Given the description of an element on the screen output the (x, y) to click on. 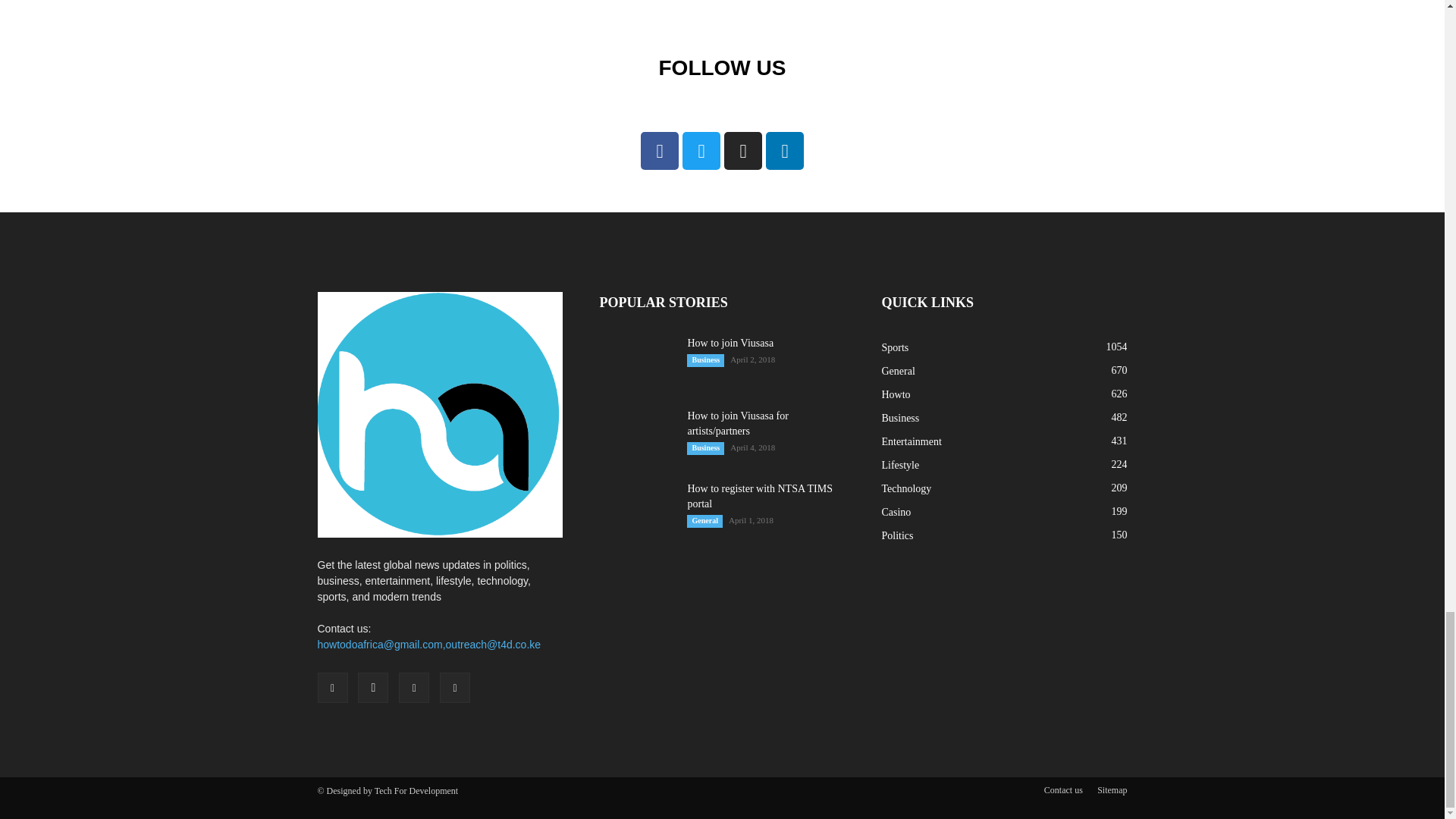
Instagram (373, 687)
Facebook (332, 687)
Twitter (454, 687)
Linkedin (413, 687)
